Given the description of an element on the screen output the (x, y) to click on. 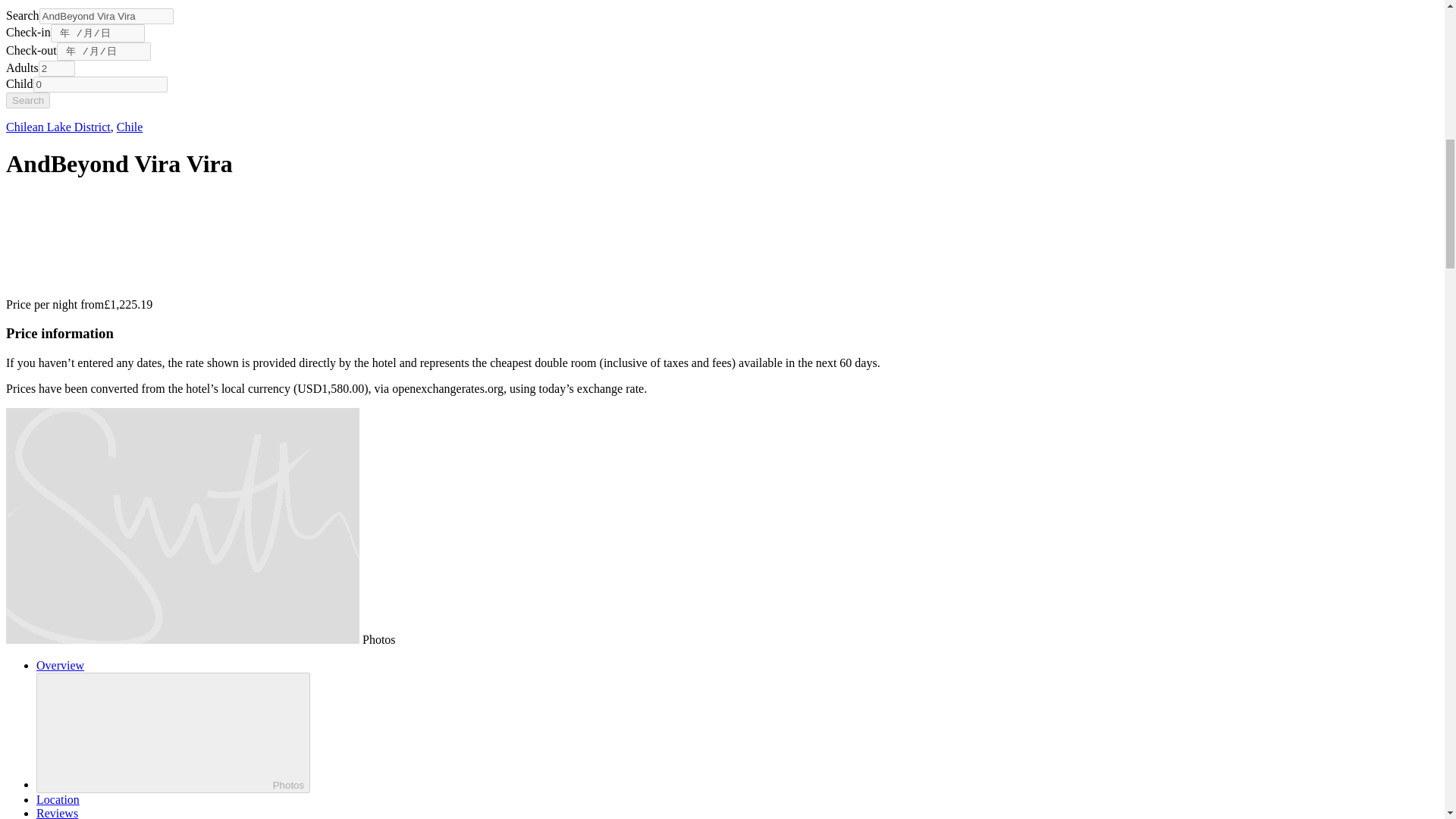
Chile (129, 126)
Photos (379, 639)
Reviews (57, 812)
2 (57, 68)
Overview (60, 665)
Chilean Lake District (57, 126)
AndBeyond Vira Vira (106, 16)
Location (58, 799)
Search (27, 100)
0 (100, 84)
Photos (173, 732)
AndBeyond Vira Vira (106, 16)
